Given the description of an element on the screen output the (x, y) to click on. 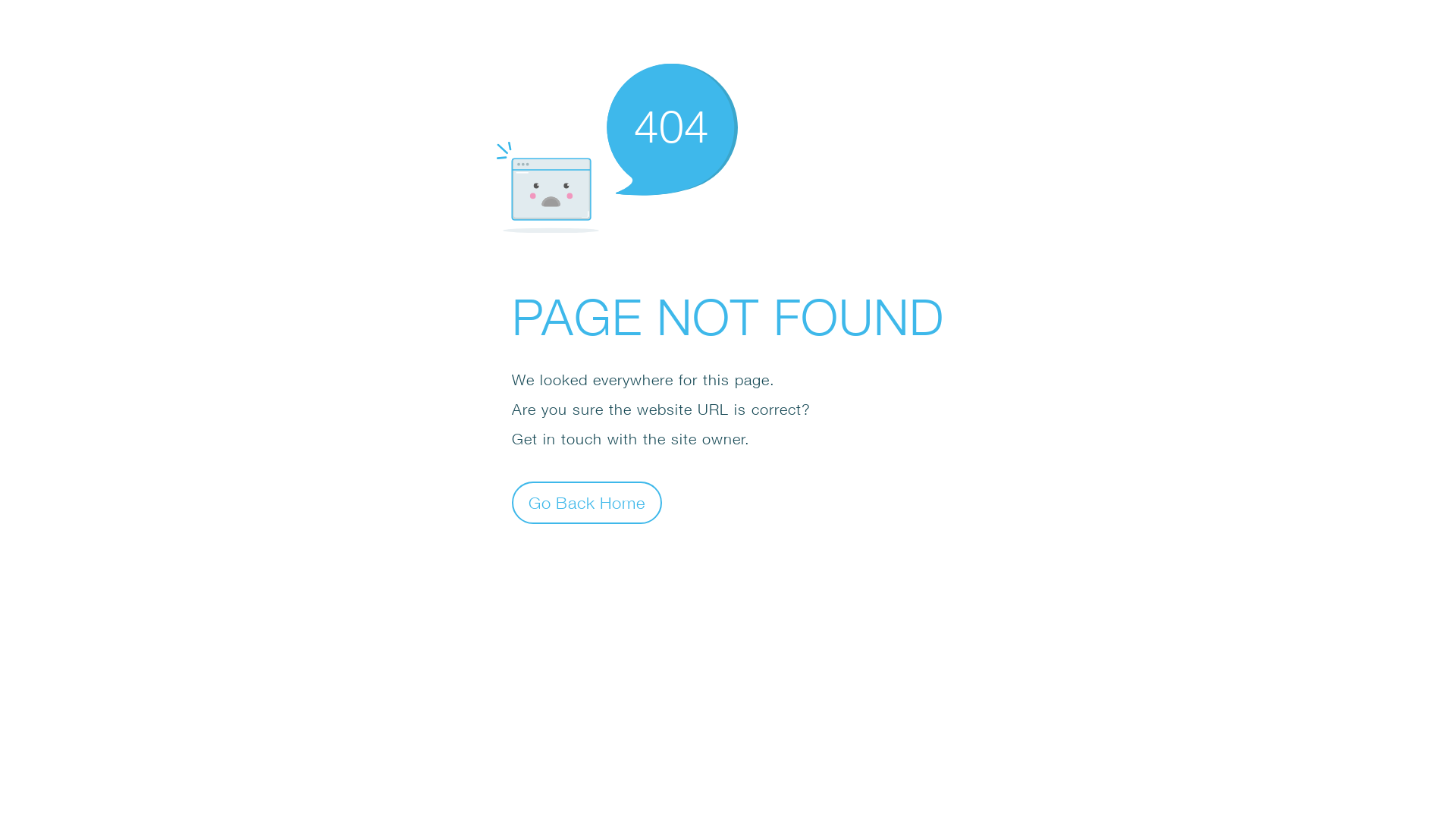
Go Back Home Element type: text (586, 502)
